Given the description of an element on the screen output the (x, y) to click on. 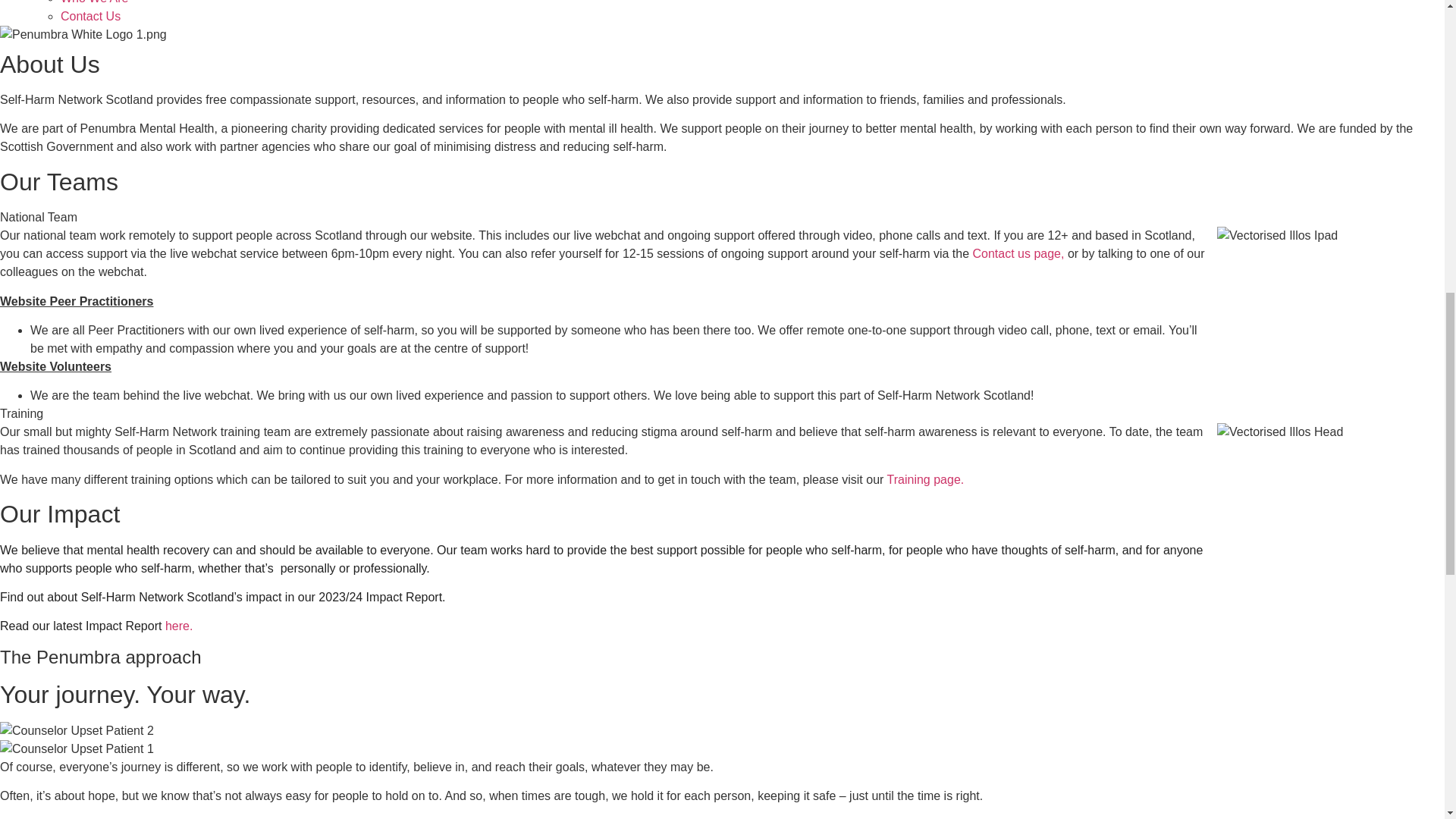
Contact Us (90, 15)
Training page. (923, 479)
Contact us page, (1018, 253)
National Team (38, 216)
here. (178, 625)
Training (21, 413)
Who We Are (95, 2)
